Given the description of an element on the screen output the (x, y) to click on. 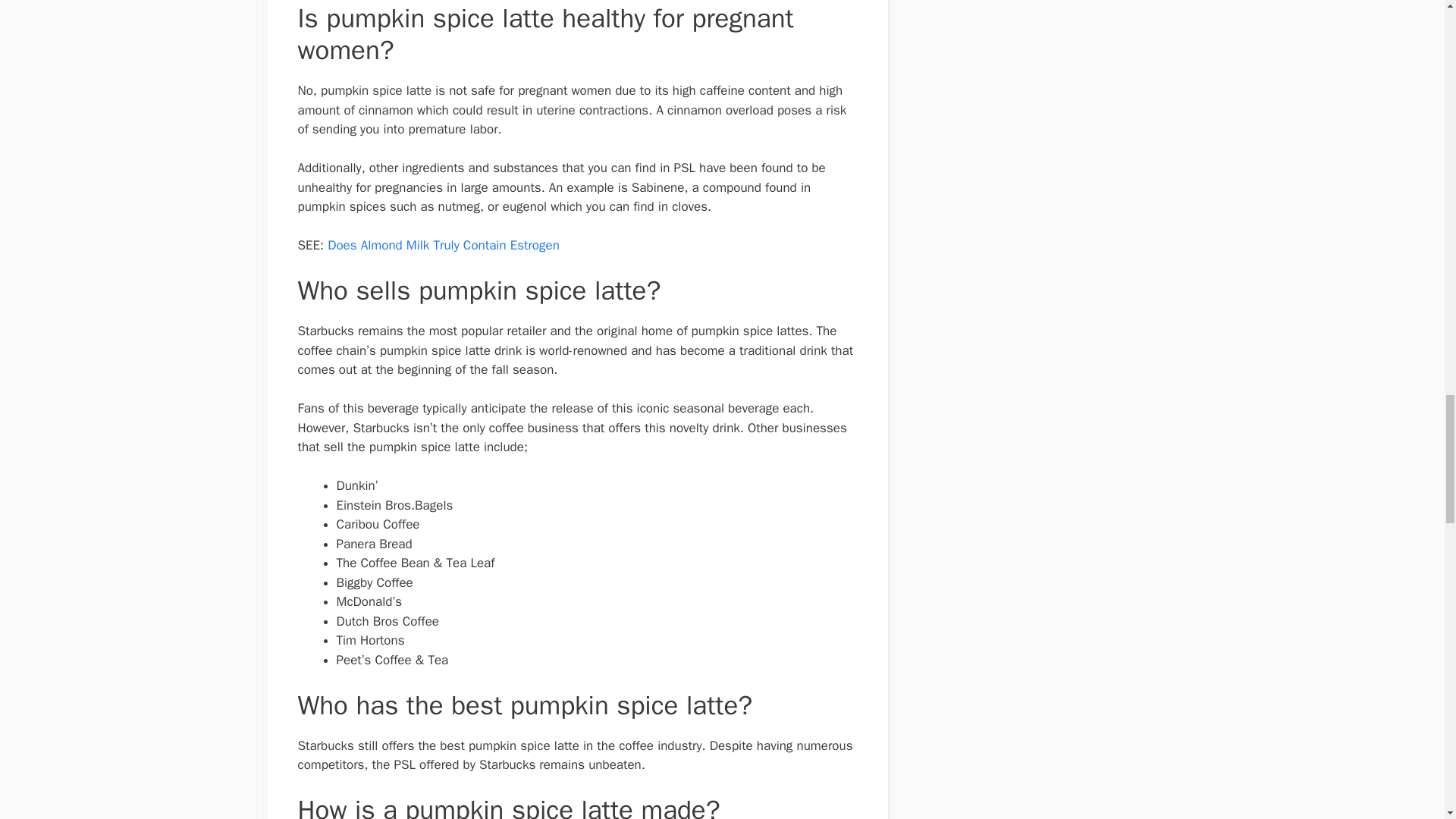
Does Almond Milk Truly Contain Estrogen (443, 245)
